Given the description of an element on the screen output the (x, y) to click on. 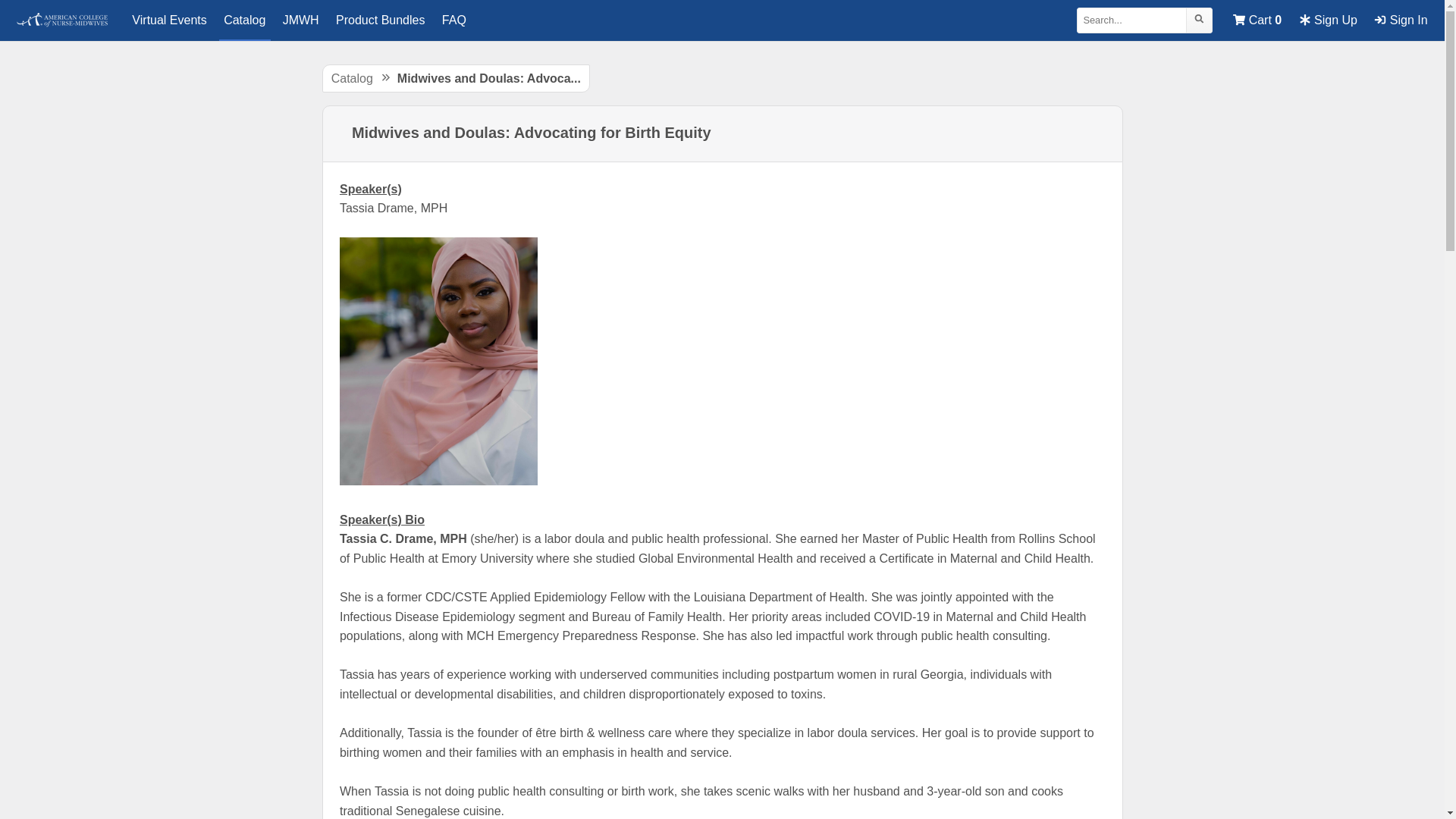
American College of Nurse-Midwives (62, 20)
Cart 0 (1257, 20)
Product Bundles (380, 20)
Product Bundles (380, 20)
Virtual Events (169, 20)
Catalog (244, 20)
Catalog (244, 20)
Virtual Events (169, 20)
JMWH (300, 20)
Catalog (351, 78)
